Given the description of an element on the screen output the (x, y) to click on. 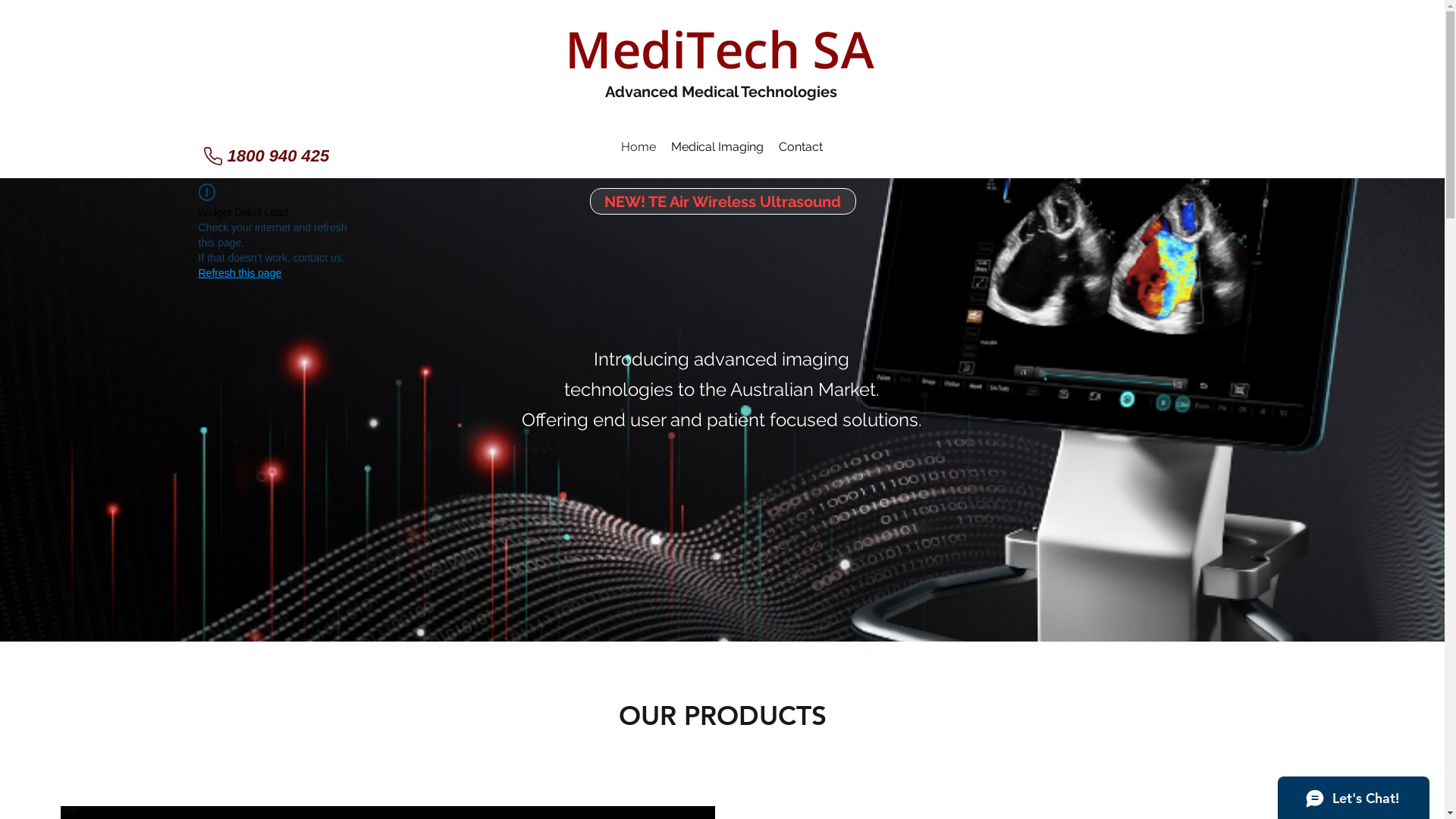
1800 940 425 Element type: text (264, 155)
NEW! TE Air Wireless Ultrasound Element type: text (722, 201)
Refresh this page Element type: text (240, 272)
Home Element type: text (637, 146)
Contact Element type: text (799, 146)
